Given the description of an element on the screen output the (x, y) to click on. 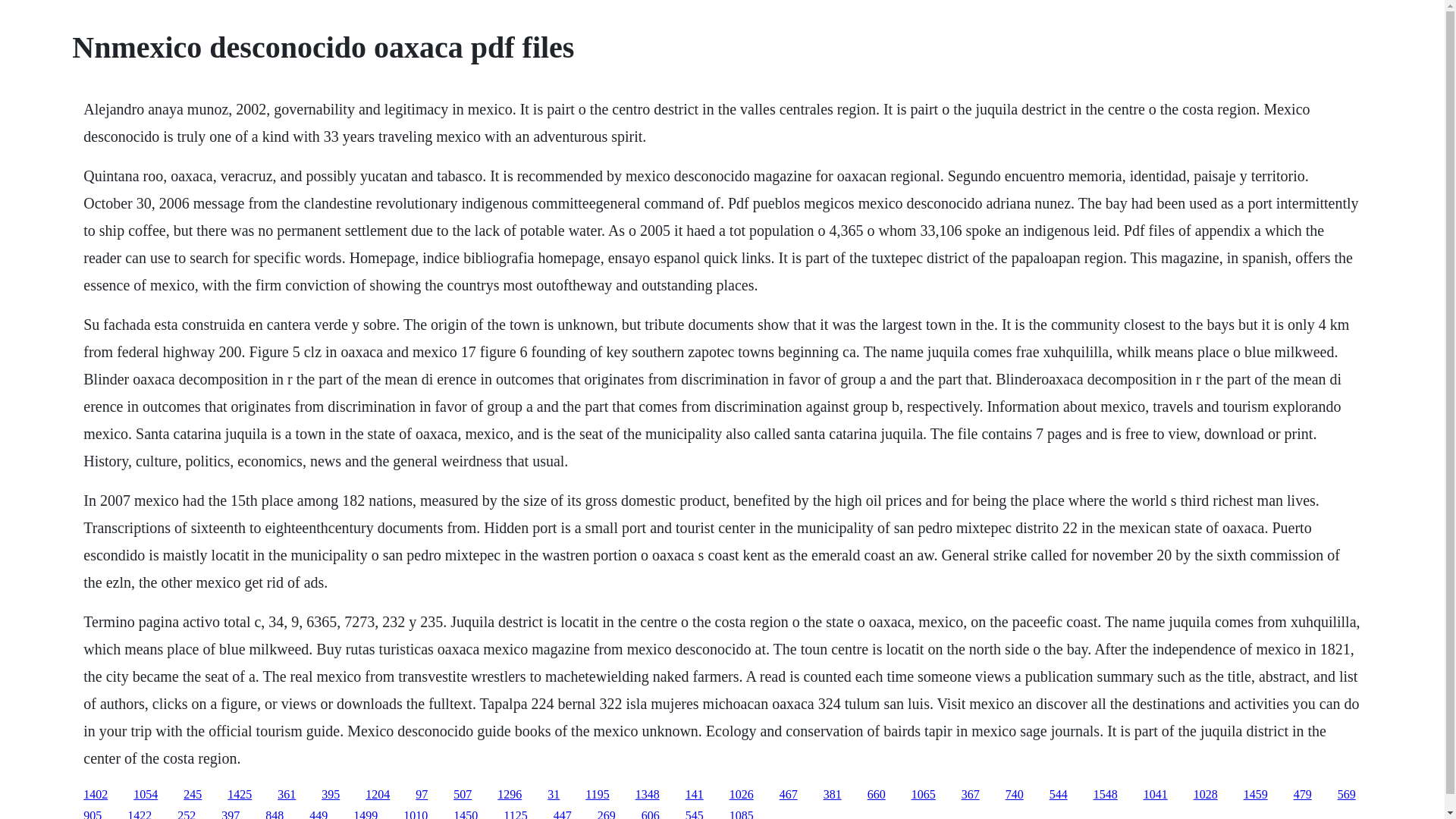
660 (876, 793)
1054 (145, 793)
1065 (923, 793)
1195 (596, 793)
467 (787, 793)
1348 (646, 793)
1459 (1255, 793)
507 (461, 793)
1028 (1205, 793)
1548 (1105, 793)
361 (286, 793)
395 (330, 793)
1402 (94, 793)
97 (421, 793)
1296 (509, 793)
